Given the description of an element on the screen output the (x, y) to click on. 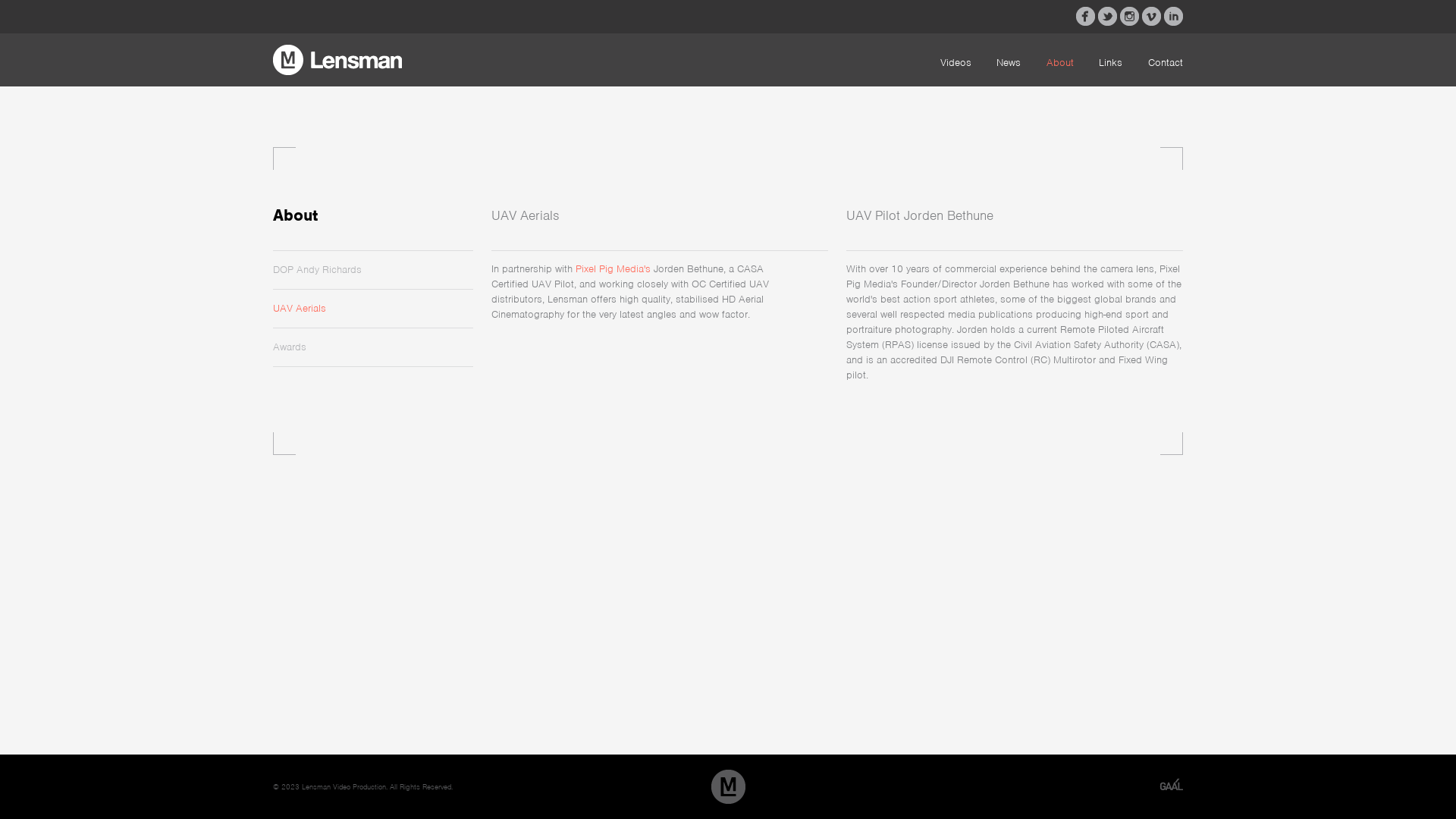
Videos Element type: text (955, 62)
UAV Aerials Element type: text (299, 307)
News Element type: text (1008, 62)
DOP Andy Richards Element type: text (317, 269)
Contact Element type: text (1165, 62)
Pixel Pig Media's Element type: text (612, 268)
About Element type: text (1059, 62)
Links Element type: text (1110, 62)
Awards Element type: text (289, 346)
